Given the description of an element on the screen output the (x, y) to click on. 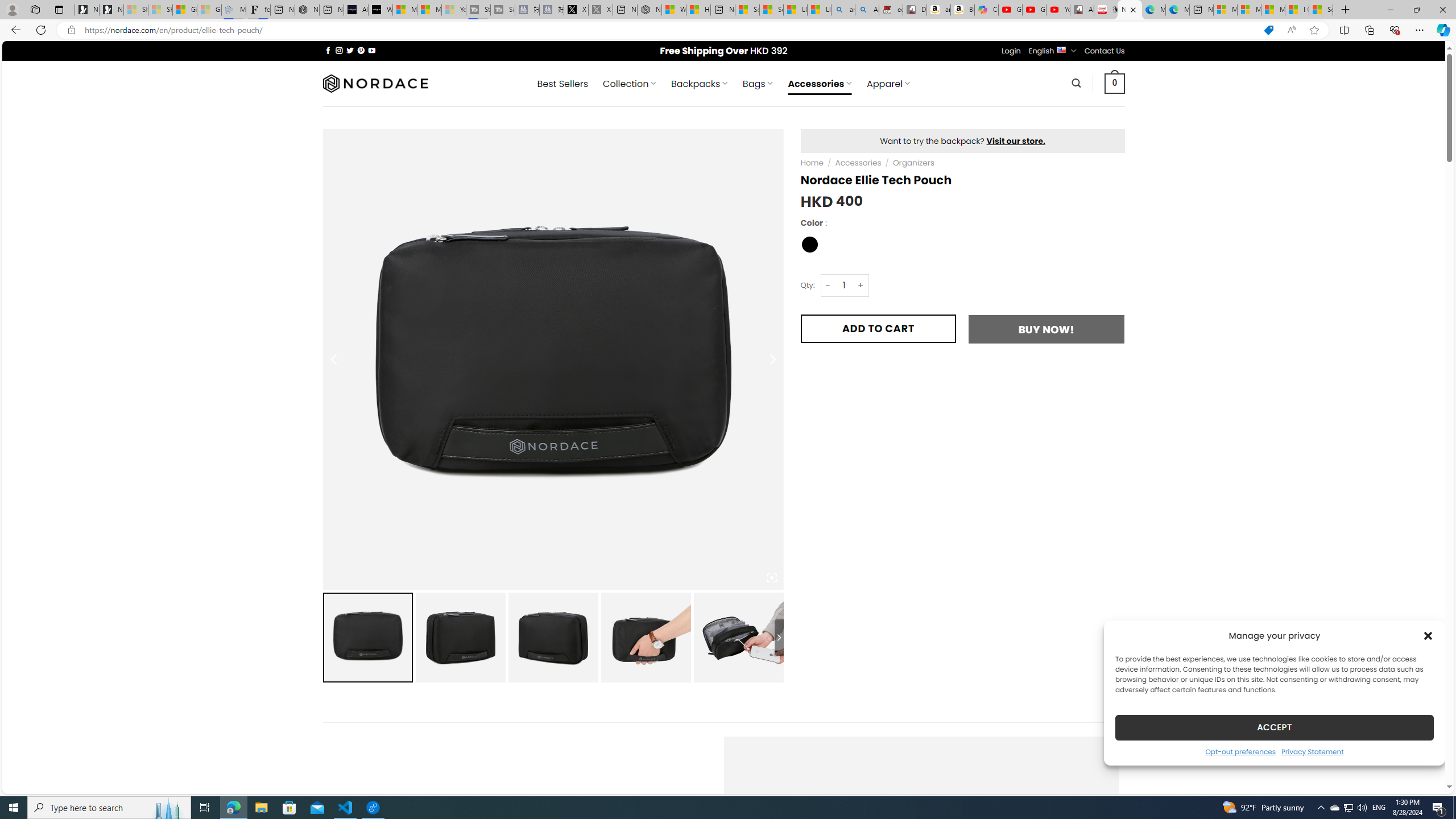
Organizers (913, 162)
Follow on Pinterest (360, 49)
Class: iconic-woothumbs-fullscreen (771, 577)
Newsletter Sign Up (111, 9)
Nordace Ellie Tech Pouch (1129, 9)
  0   (1115, 83)
ADD TO CART (878, 328)
